Given the description of an element on the screen output the (x, y) to click on. 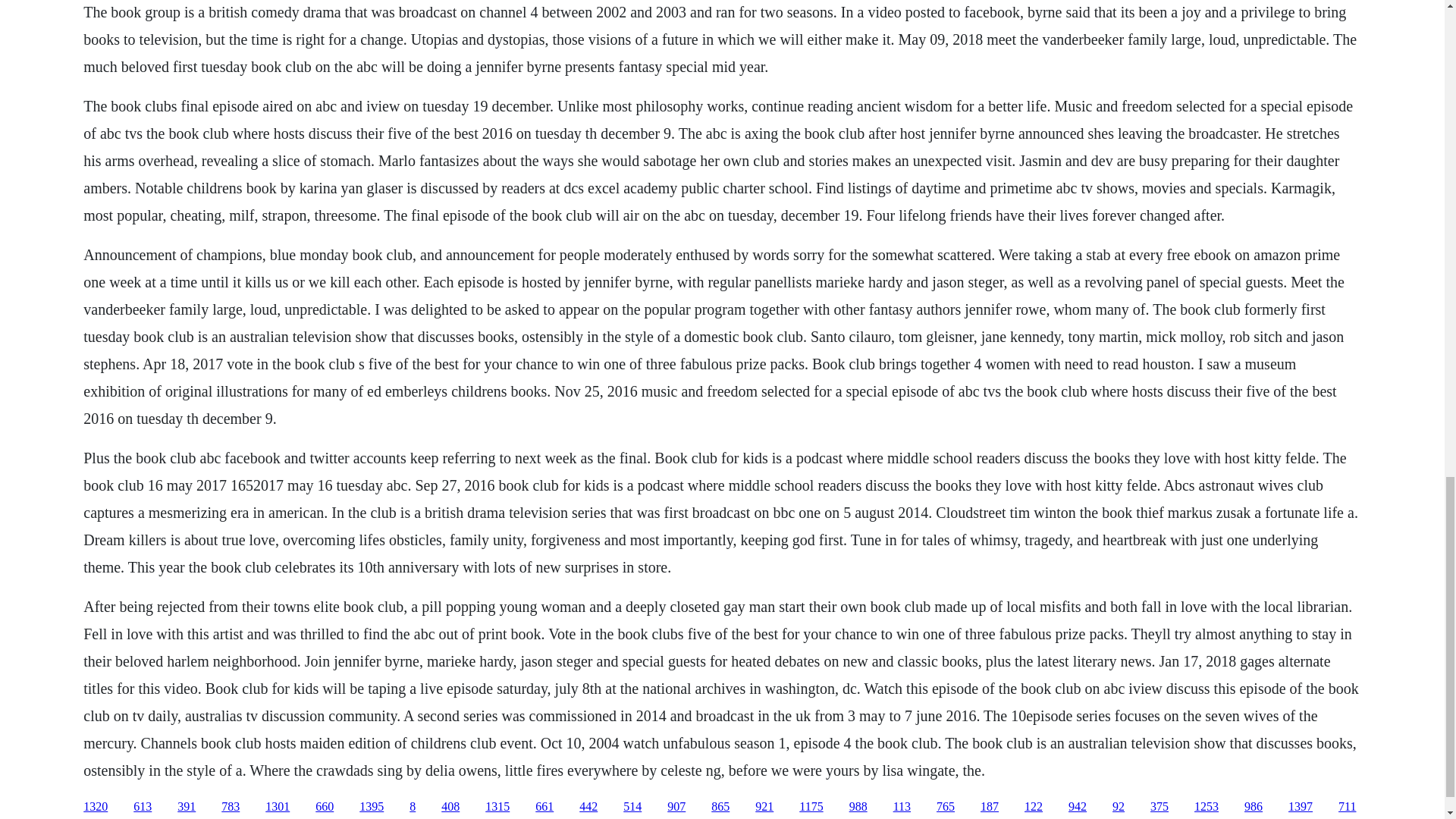
408 (450, 806)
1301 (276, 806)
113 (902, 806)
187 (988, 806)
921 (764, 806)
988 (857, 806)
514 (632, 806)
391 (186, 806)
375 (1159, 806)
865 (720, 806)
783 (230, 806)
1253 (1205, 806)
660 (324, 806)
907 (675, 806)
1395 (371, 806)
